Given the description of an element on the screen output the (x, y) to click on. 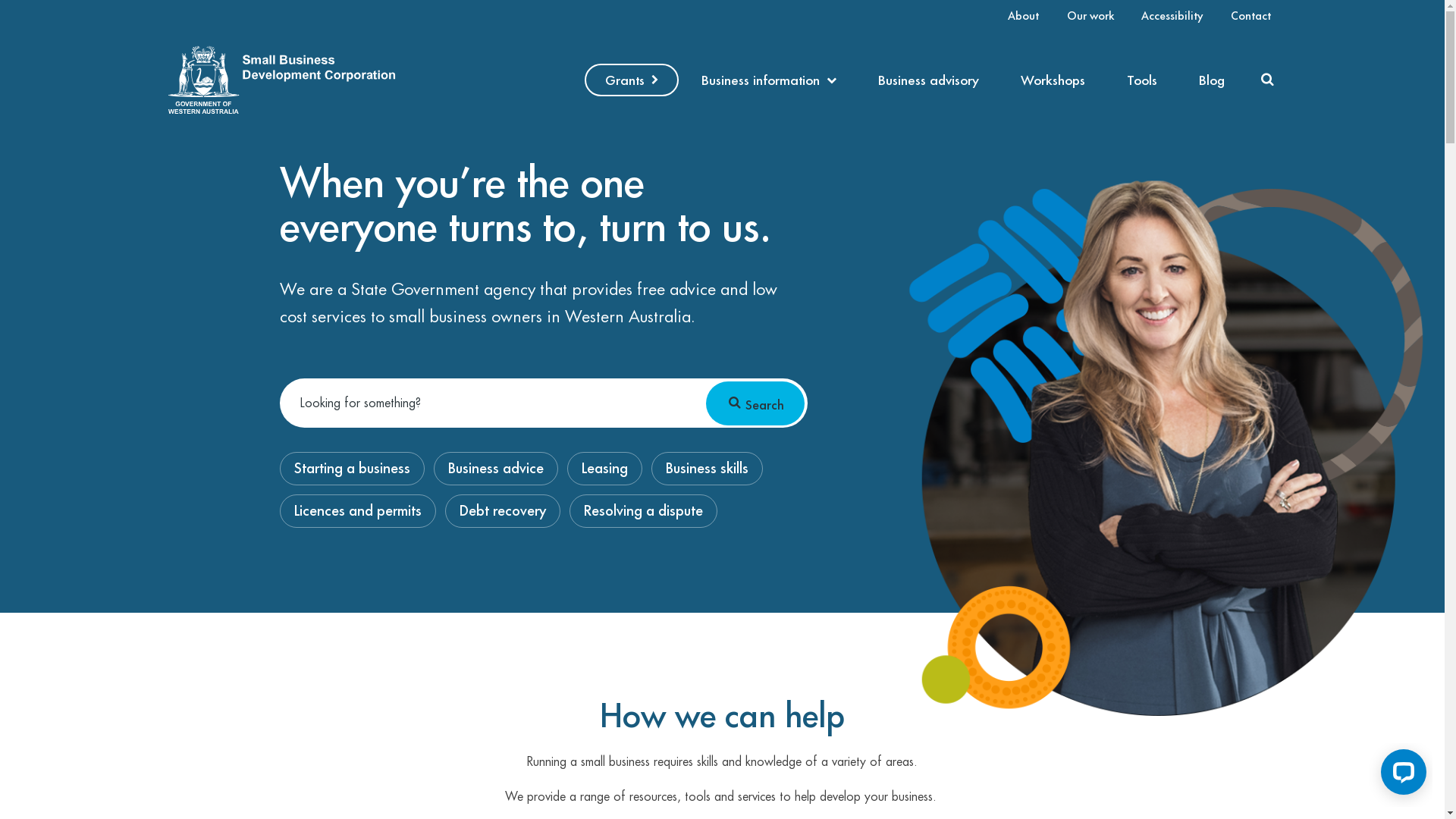
Our work Element type: text (1090, 16)
Search Element type: text (755, 403)
Licences and permits Element type: text (357, 511)
LiveChat chat widget Element type: hover (1400, 774)
Leasing Element type: text (604, 468)
Business advice Element type: text (495, 468)
Tools Element type: text (1141, 79)
Workshops Element type: text (1052, 79)
Grants Element type: text (631, 79)
Resolving a dispute Element type: text (643, 511)
Contact Element type: text (1250, 16)
Business skills Element type: text (707, 468)
Skip to main content Element type: text (0, 0)
About Element type: text (1023, 16)
Debt recovery Element type: text (502, 511)
Blog Element type: text (1211, 79)
Business advisory Element type: text (928, 79)
Home Element type: hover (281, 123)
Business information Element type: text (768, 79)
? Element type: text (580, 84)
Starting a business Element type: text (351, 468)
Accessibility Element type: text (1171, 16)
